Given the description of an element on the screen output the (x, y) to click on. 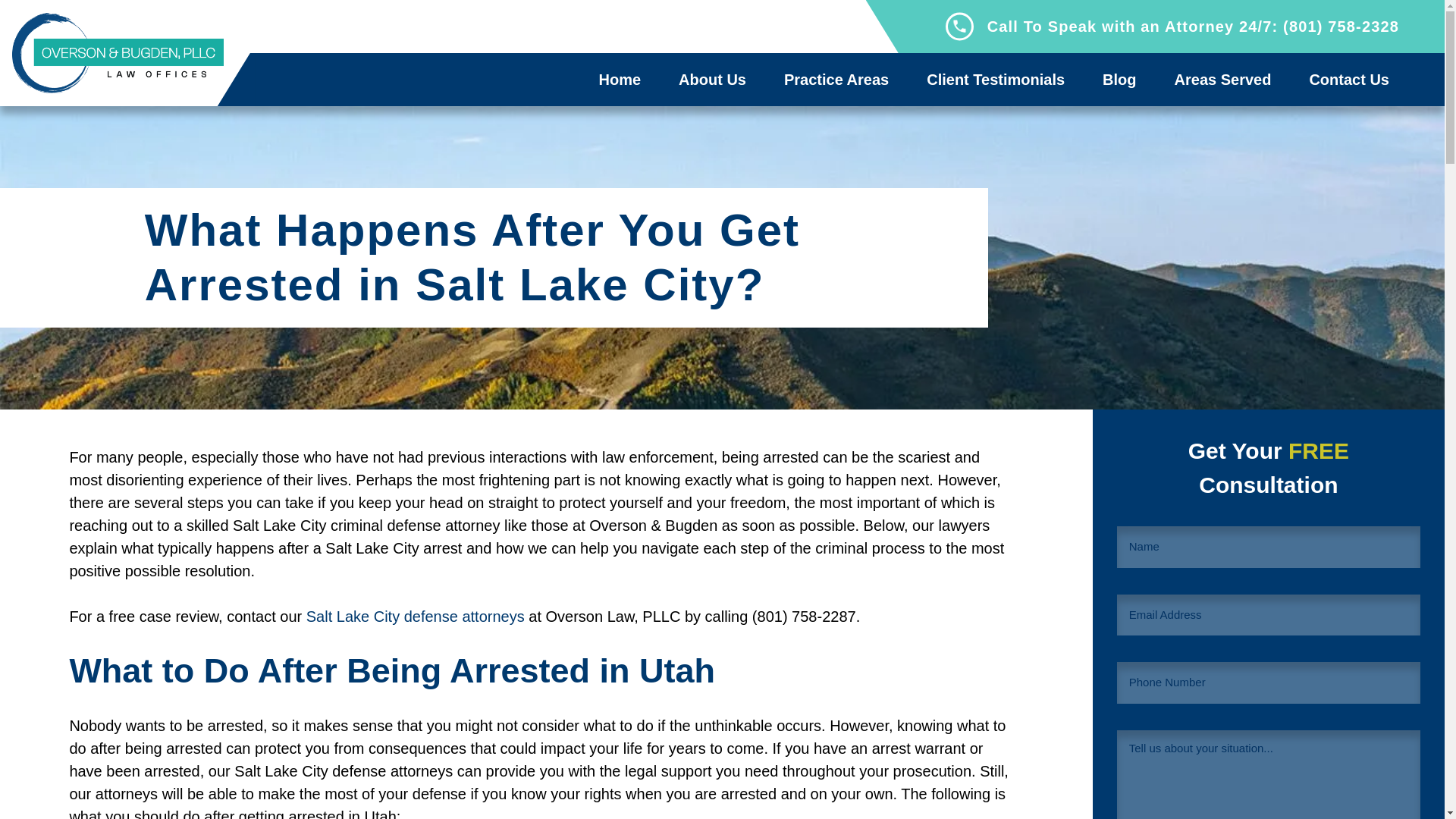
Practice Areas (836, 79)
About Us (711, 79)
Home (620, 79)
